Given the description of an element on the screen output the (x, y) to click on. 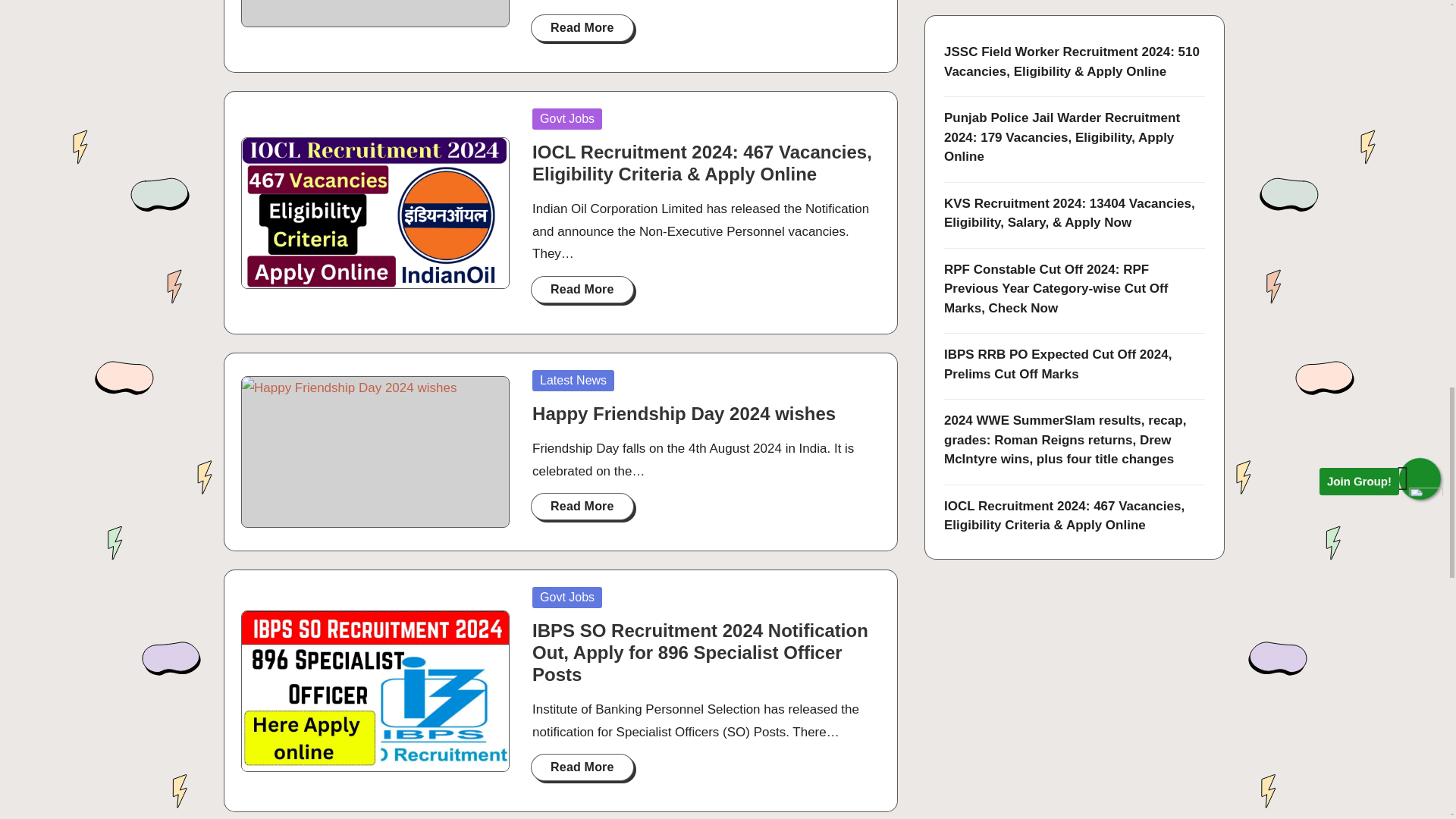
Happy Friendship Day 2024 wishes (683, 413)
